Given the description of an element on the screen output the (x, y) to click on. 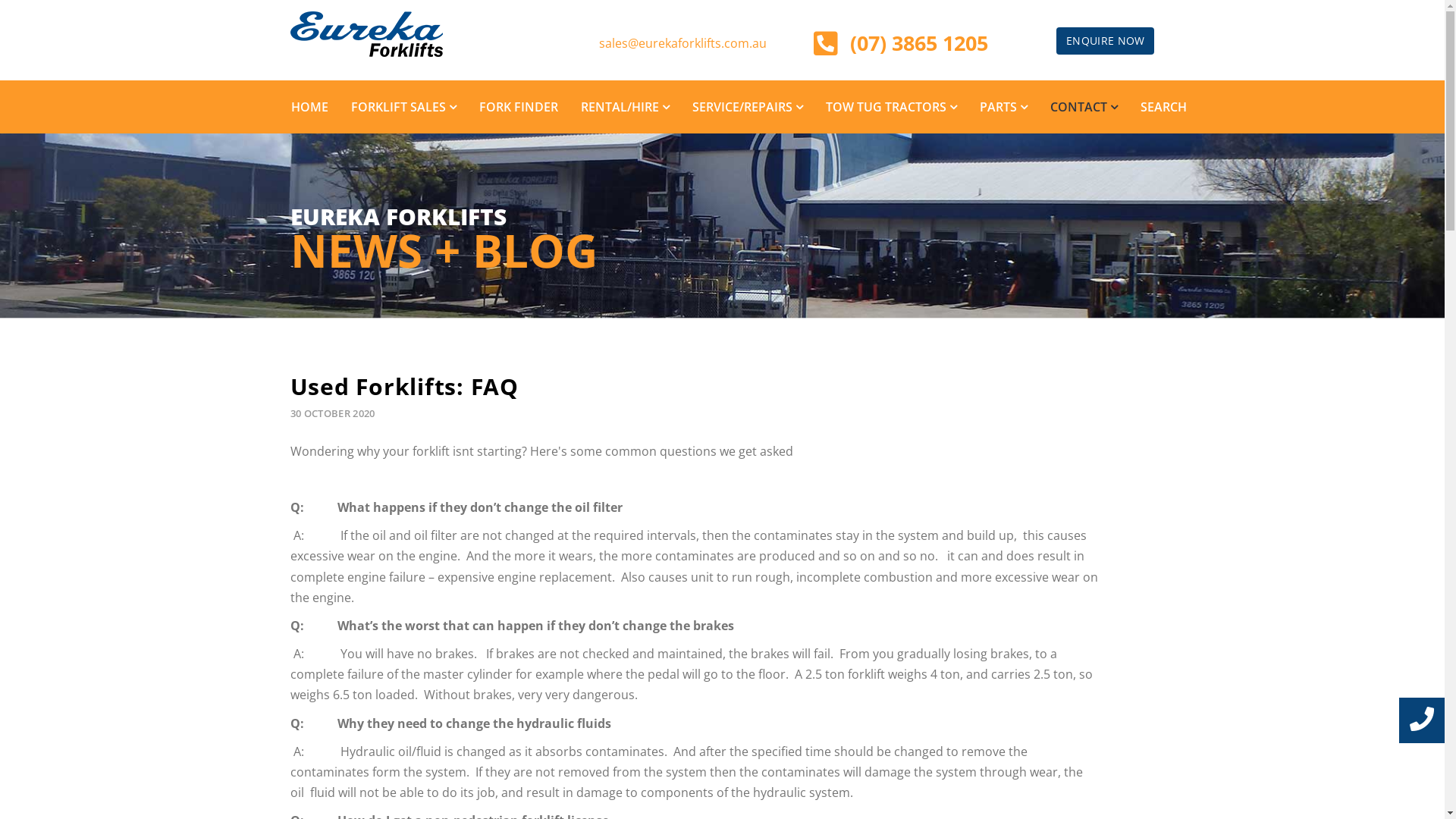
FORK FINDER Element type: text (517, 106)
HOME Element type: text (308, 106)
sales@eurekaforklifts.com.au Element type: text (682, 42)
TOW TUG TRACTORS Element type: text (891, 106)
(07) 3865 1205 Element type: text (919, 42)
CONTACT Element type: text (1083, 106)
FORKLIFT SALES Element type: text (403, 106)
ENQUIRE NOW Element type: text (1105, 40)
SEARCH Element type: text (1162, 106)
SERVICE/REPAIRS Element type: text (747, 106)
RENTAL/HIRE Element type: text (624, 106)
PARTS Element type: text (1002, 106)
